Given the description of an element on the screen output the (x, y) to click on. 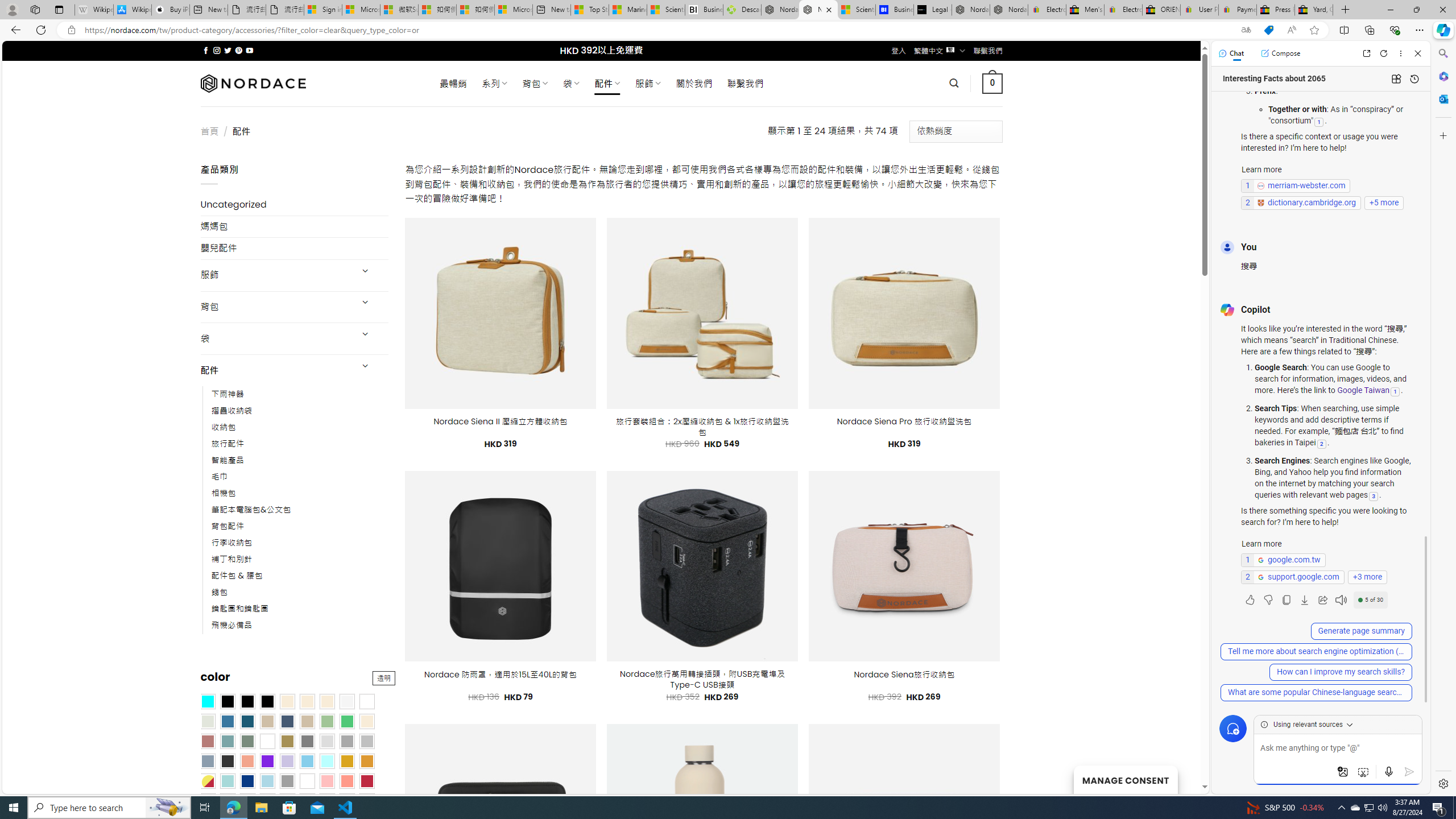
Follow on Twitter (227, 50)
Compose (1280, 52)
